Given the description of an element on the screen output the (x, y) to click on. 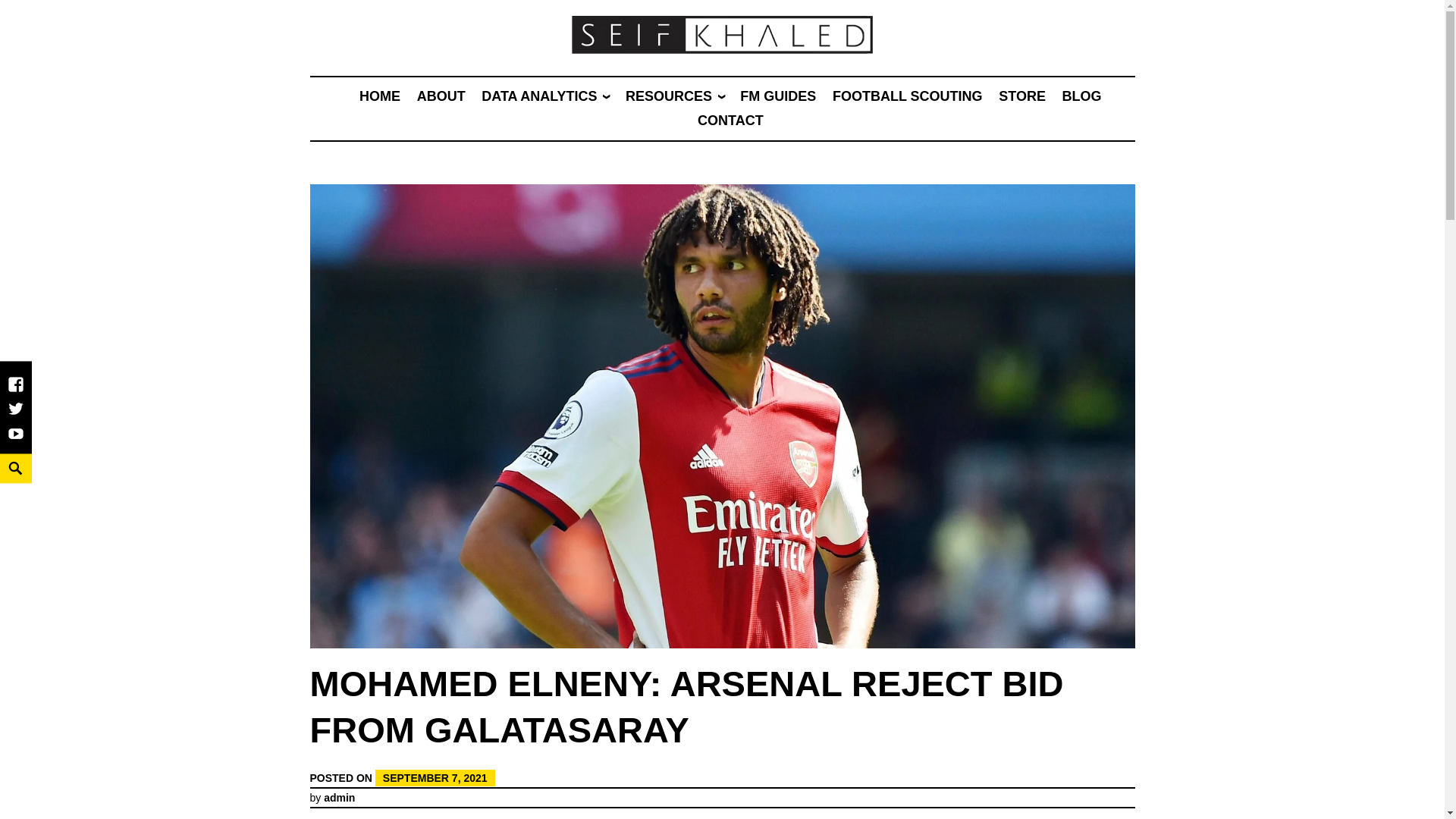
Facebook (15, 392)
CONTACT (729, 119)
FM GUIDES (777, 96)
STORE (1021, 96)
RESOURCES (668, 96)
admin (339, 797)
ABOUT (440, 96)
Twitter (15, 416)
HOME (379, 96)
SEPTEMBER 7, 2021 (435, 777)
Youtube (15, 441)
BLOG (1080, 96)
FOOTBALL SCOUTING (907, 96)
DATA ANALYTICS (538, 96)
